Given the description of an element on the screen output the (x, y) to click on. 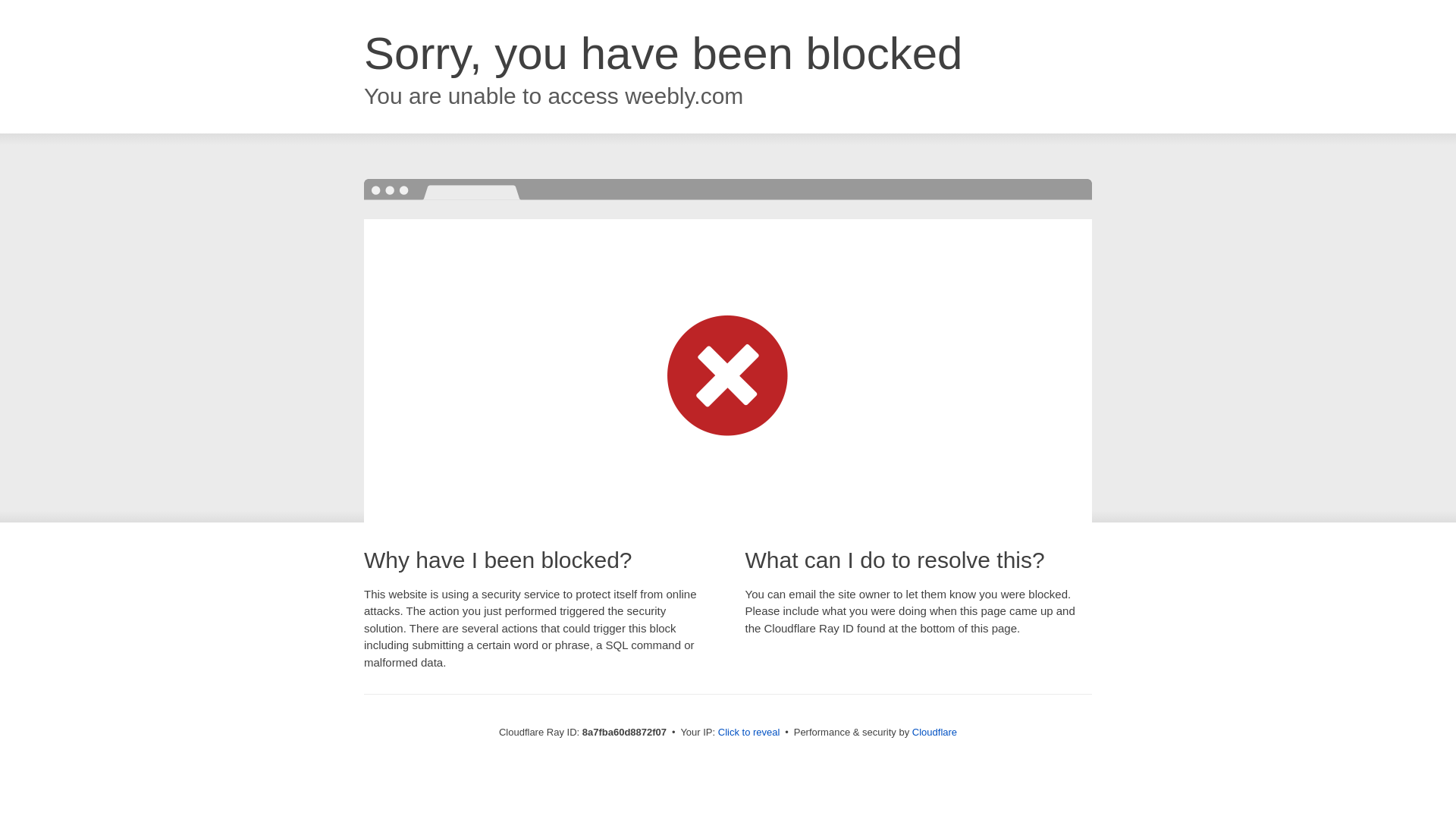
Click to reveal (748, 732)
Cloudflare (934, 731)
